Given the description of an element on the screen output the (x, y) to click on. 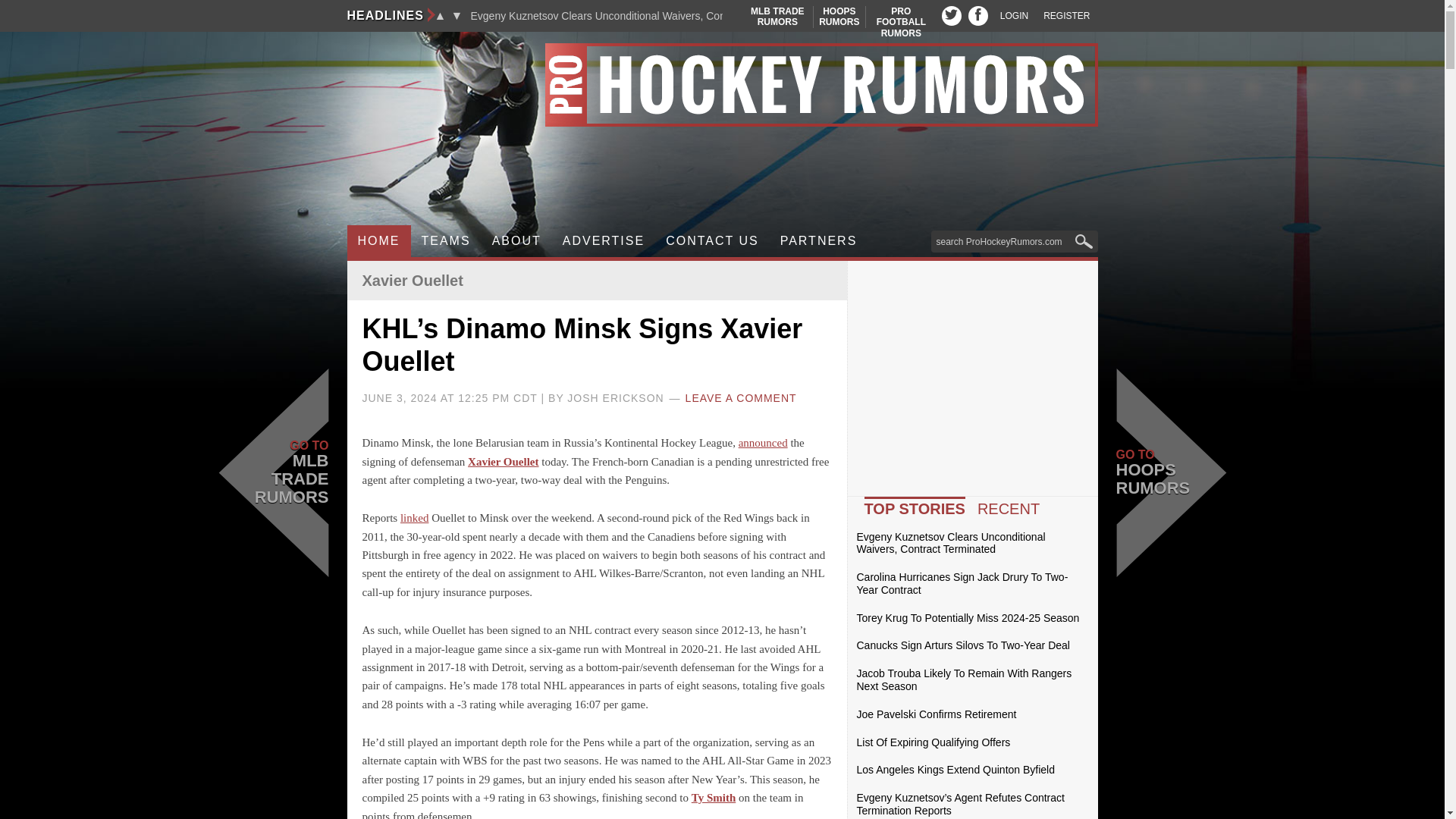
Pro Hockey Rumors (722, 84)
Previous (439, 15)
FB profile (978, 15)
LOGIN (1013, 15)
Twitter profile (951, 15)
Next (456, 15)
Search (838, 16)
HOME (445, 241)
REGISTER (901, 21)
